Given the description of an element on the screen output the (x, y) to click on. 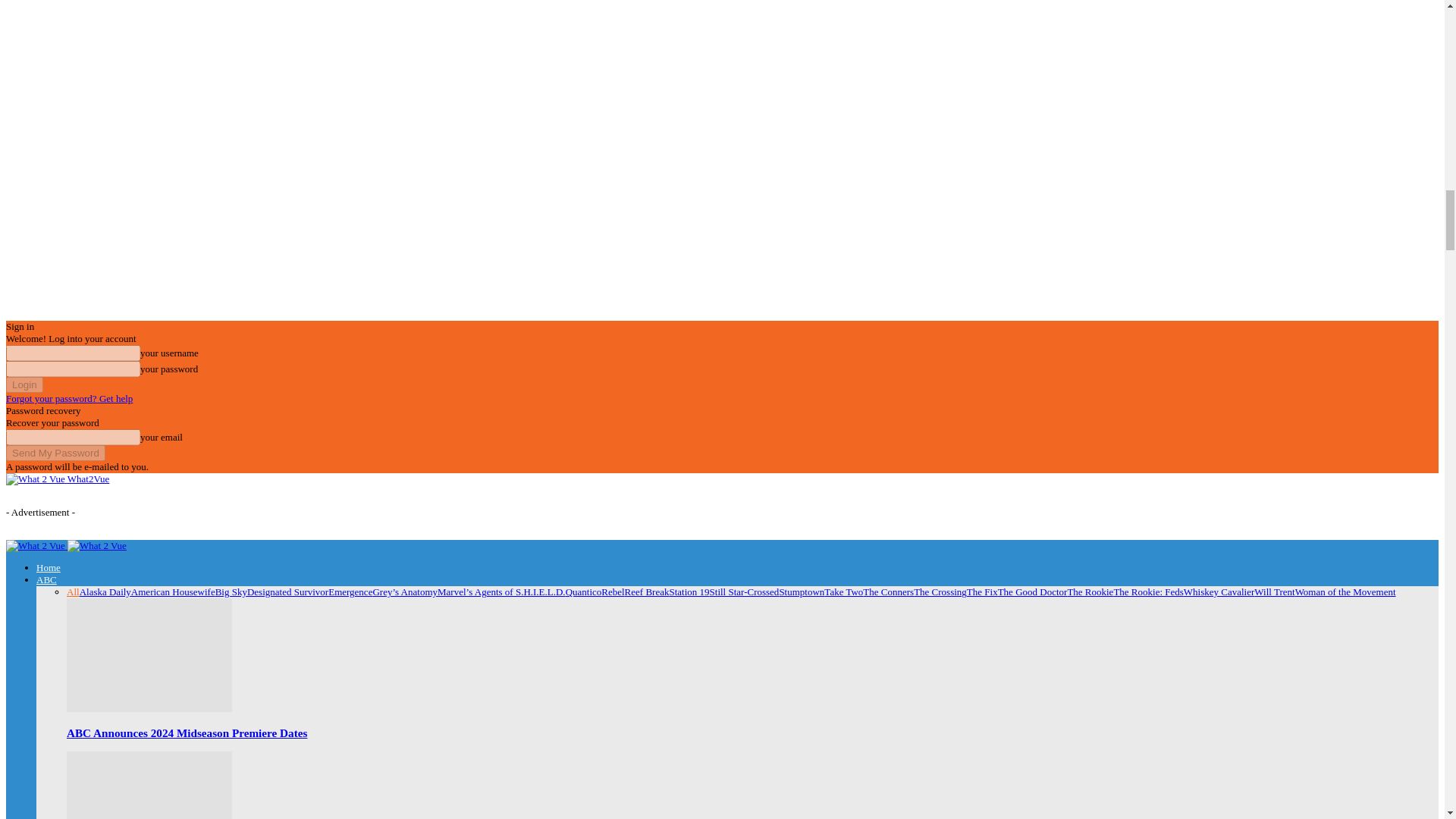
What 2 Vue (35, 479)
ABC Announces 2024 Midseason Premiere Dates (148, 654)
Send My Password (54, 453)
What 2 Vue (35, 545)
ABC Announces 2024 Midseason Premiere Dates (186, 732)
Login (24, 384)
ABC Announces 2024 Midseason Premiere Dates (148, 708)
What 2 Vue (96, 545)
